Given the description of an element on the screen output the (x, y) to click on. 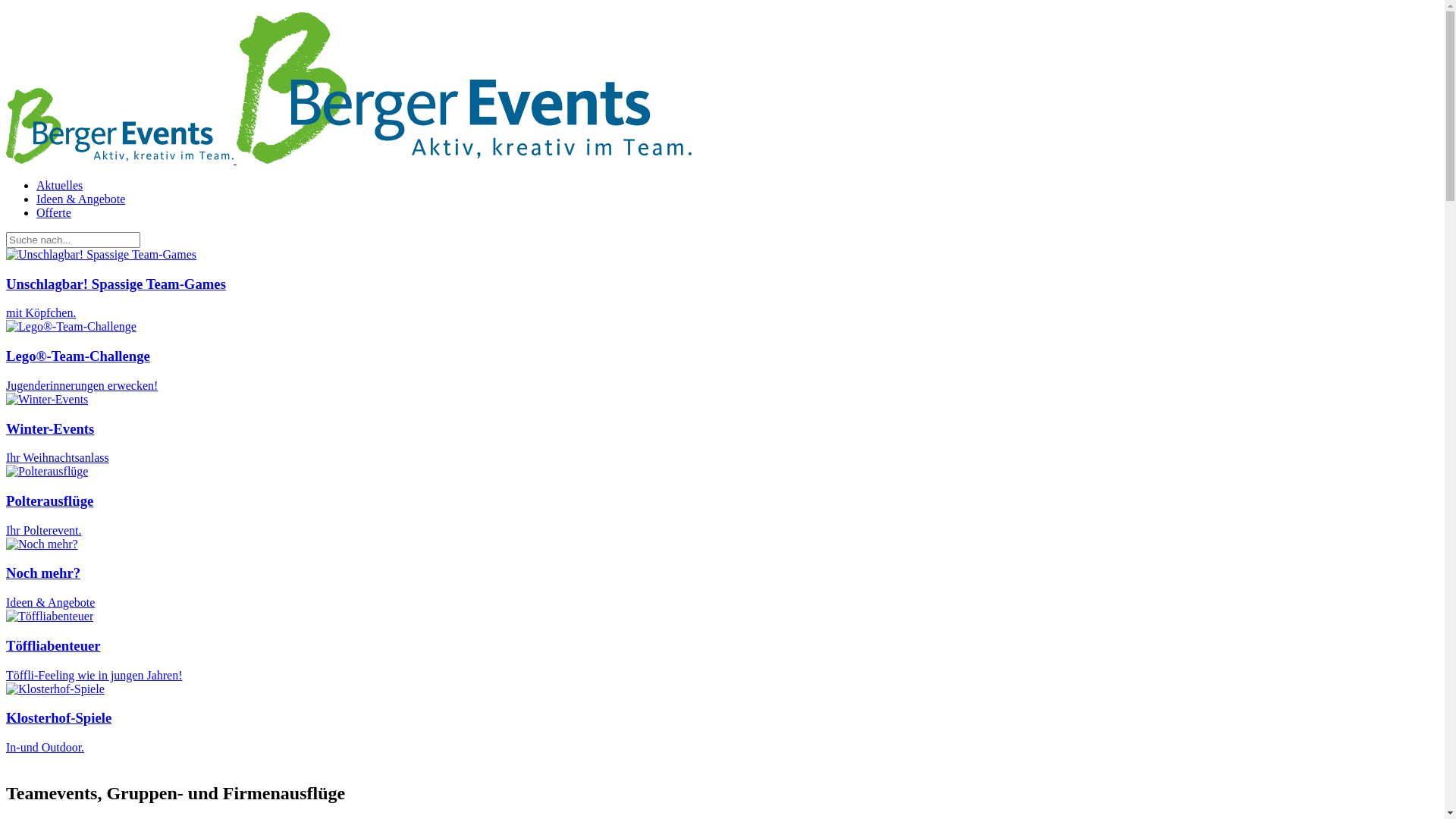
Winter-Events Element type: hover (46, 399)
Unschlagbar! Spassige Team-Games Element type: hover (101, 254)
Winter-Events
Ihr Weihnachtsanlass Element type: text (722, 442)
Noch mehr? Element type: text (43, 572)
Klosterhof-Spiele
In-und Outdoor. Element type: text (722, 731)
Ideen & Angebote Element type: text (737, 199)
Noch mehr? Element type: hover (42, 544)
Offerte Element type: text (737, 212)
Aktuelles Element type: text (737, 185)
Klosterhof-Spiele Element type: hover (55, 689)
Ideen & Angebote Element type: text (50, 602)
